Given the description of an element on the screen output the (x, y) to click on. 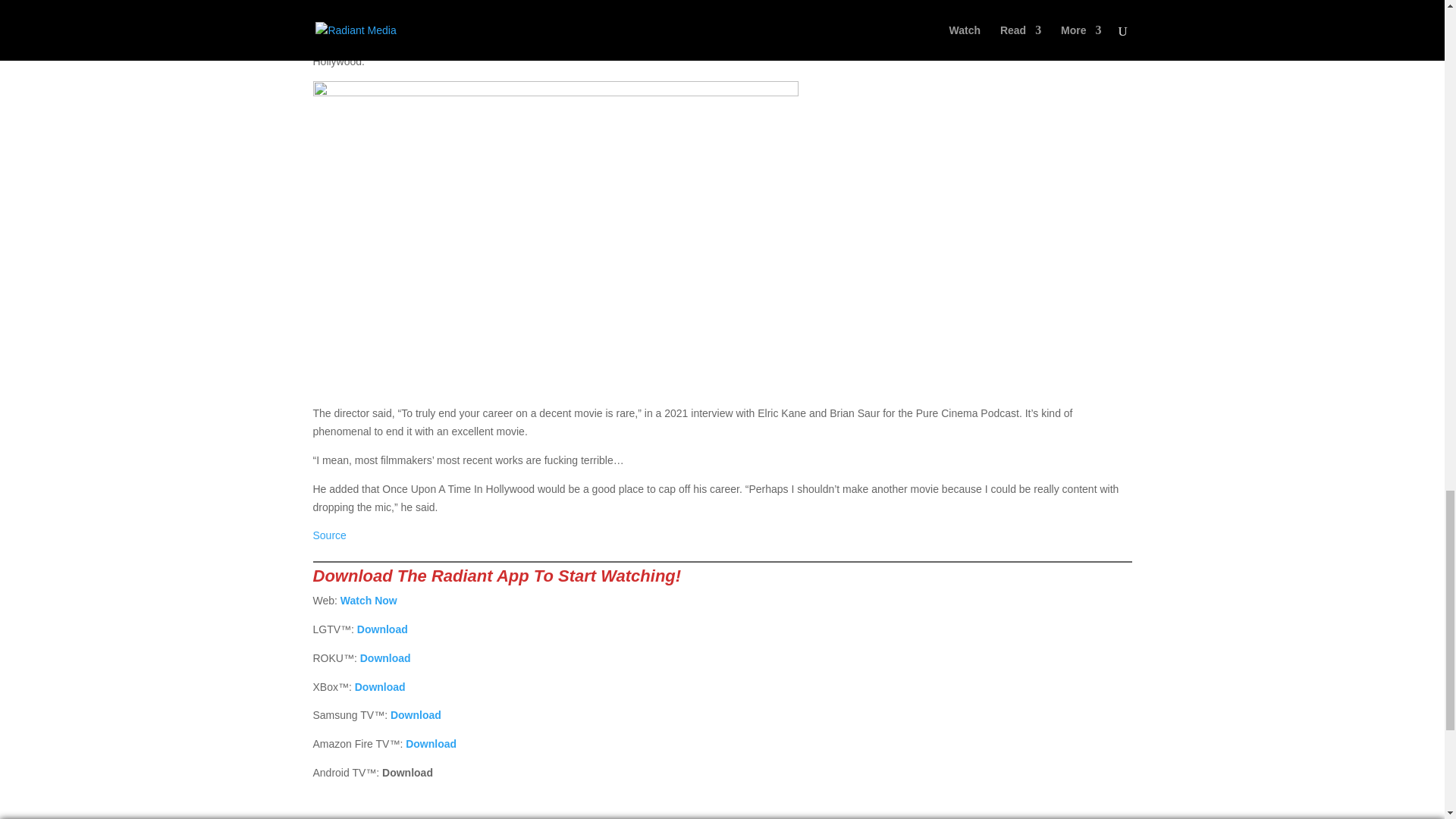
Download (381, 629)
Watch Now (368, 600)
Source (329, 535)
Download (415, 715)
Download (380, 686)
Download (431, 743)
Download (384, 657)
